Given the description of an element on the screen output the (x, y) to click on. 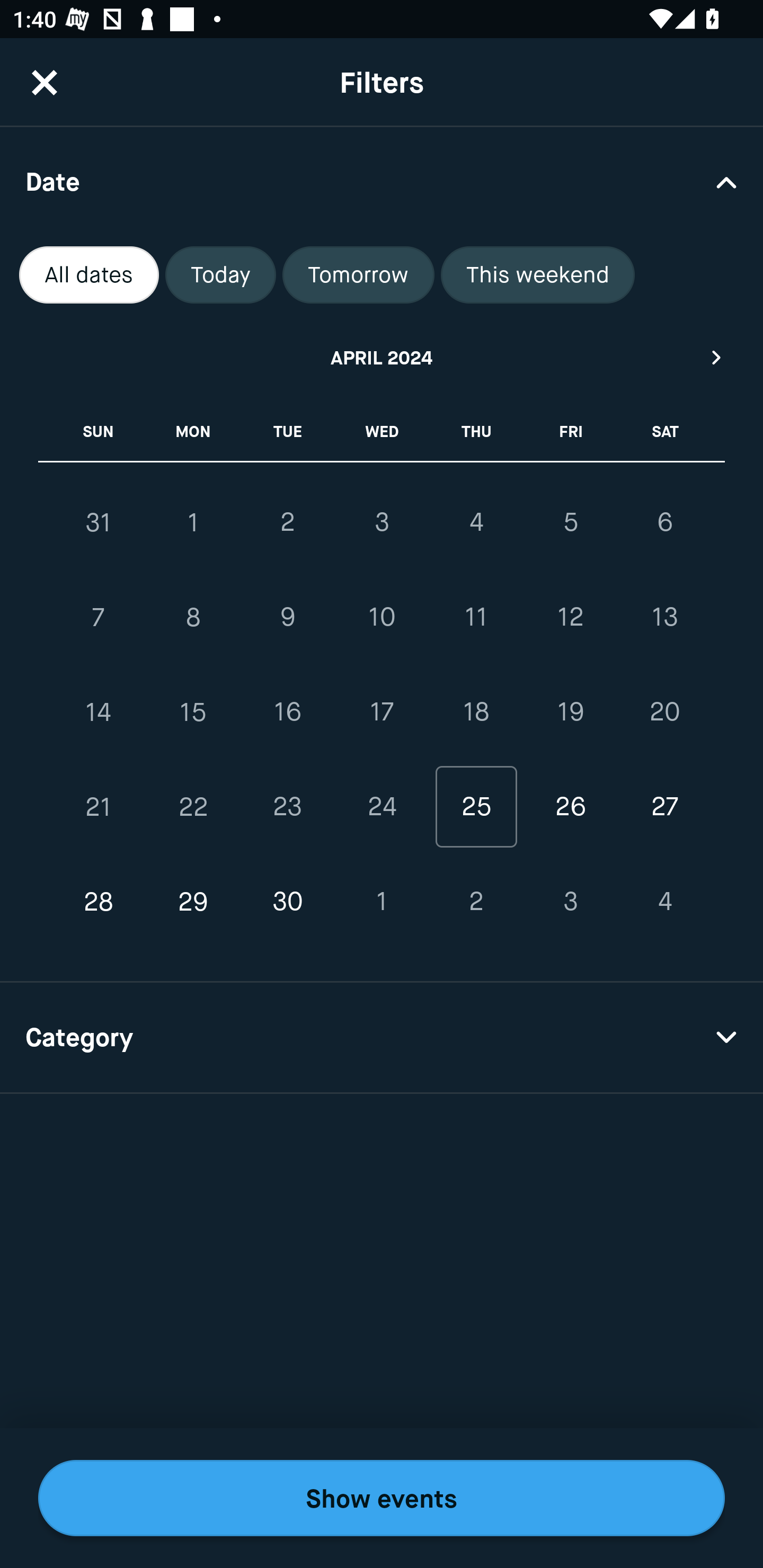
CloseButton (44, 82)
Date Drop Down Arrow (381, 181)
All dates (88, 274)
Today (220, 274)
Tomorrow (358, 274)
This weekend (537, 274)
Next (717, 357)
31 (98, 522)
1 (192, 522)
2 (287, 522)
3 (381, 522)
4 (475, 522)
5 (570, 522)
6 (664, 522)
7 (98, 617)
8 (192, 617)
9 (287, 617)
10 (381, 617)
11 (475, 617)
12 (570, 617)
13 (664, 617)
14 (98, 711)
15 (192, 711)
16 (287, 711)
17 (381, 711)
18 (475, 711)
19 (570, 711)
20 (664, 711)
21 (98, 806)
22 (192, 806)
23 (287, 806)
24 (381, 806)
25 (475, 806)
26 (570, 806)
27 (664, 806)
28 (98, 901)
29 (192, 901)
30 (287, 901)
1 (381, 901)
2 (475, 901)
3 (570, 901)
4 (664, 901)
Category Drop Down Arrow (381, 1038)
Show events (381, 1497)
